Given the description of an element on the screen output the (x, y) to click on. 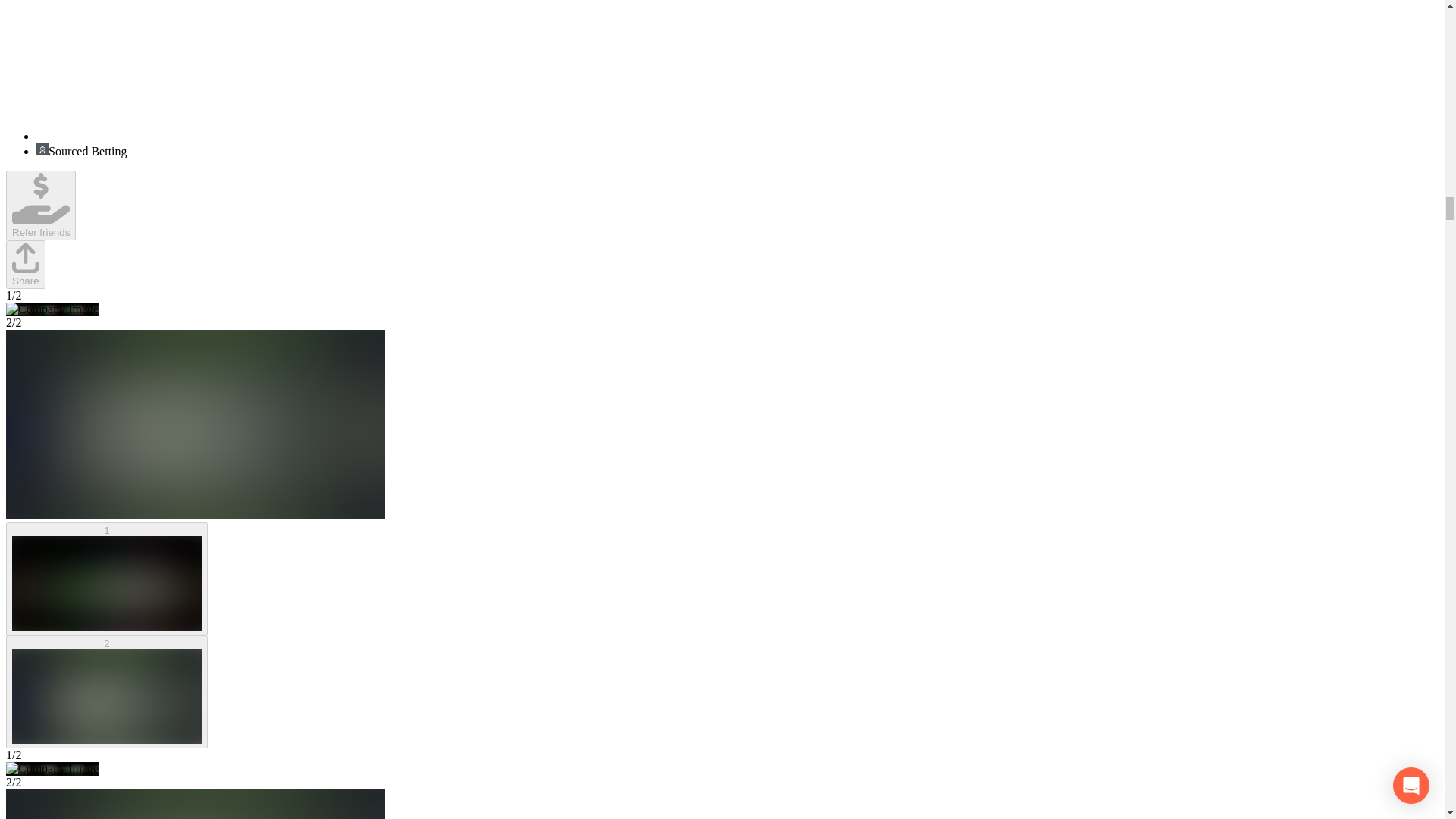
Share (25, 279)
Refer friends (40, 205)
1 (106, 578)
2 (106, 691)
